Given the description of an element on the screen output the (x, y) to click on. 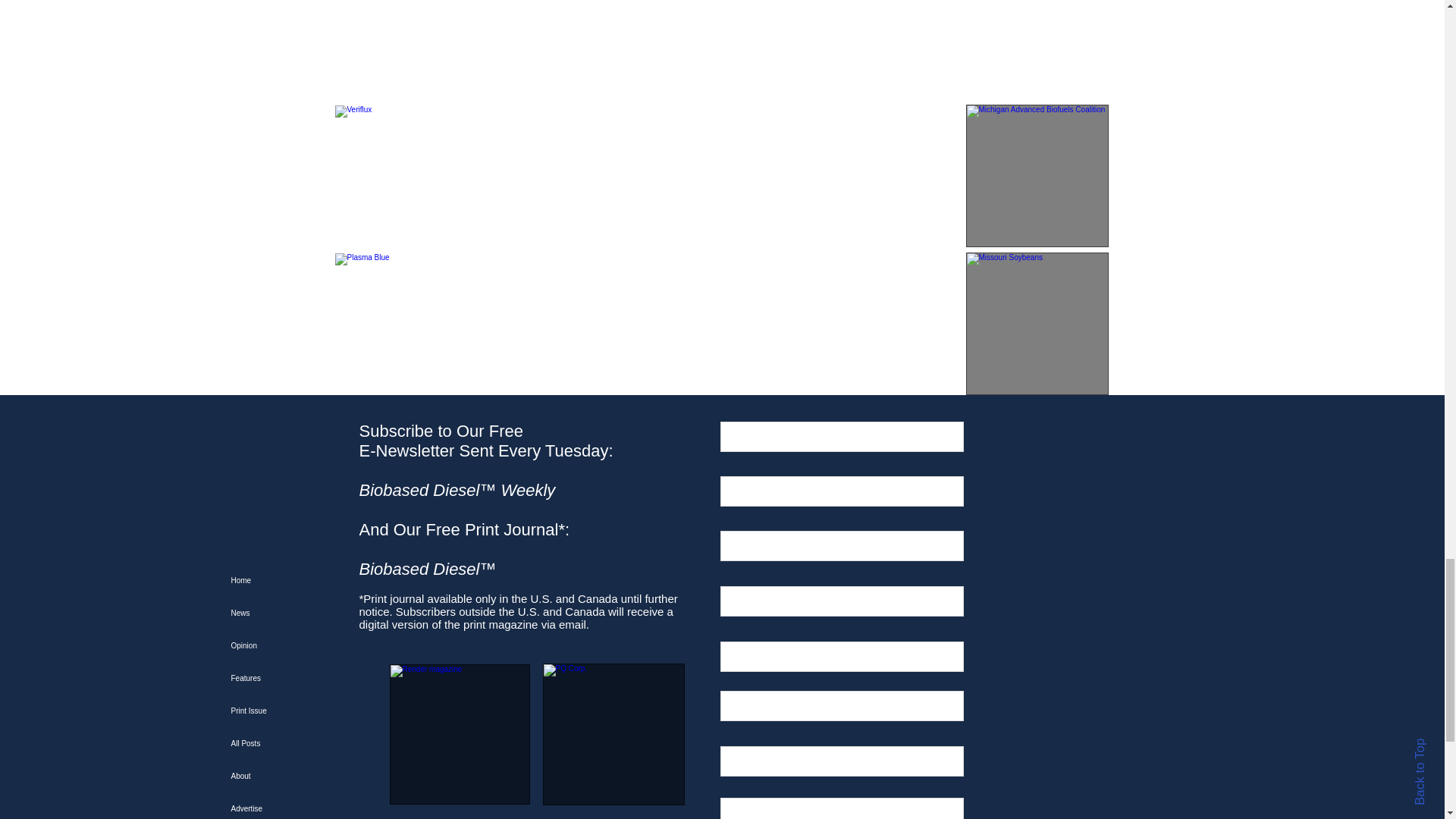
Plasma Blue (405, 323)
Clean Fuels Alliance America (1037, 49)
Inflectis Digital Marketing  (405, 49)
Veriflux (405, 176)
